Given the description of an element on the screen output the (x, y) to click on. 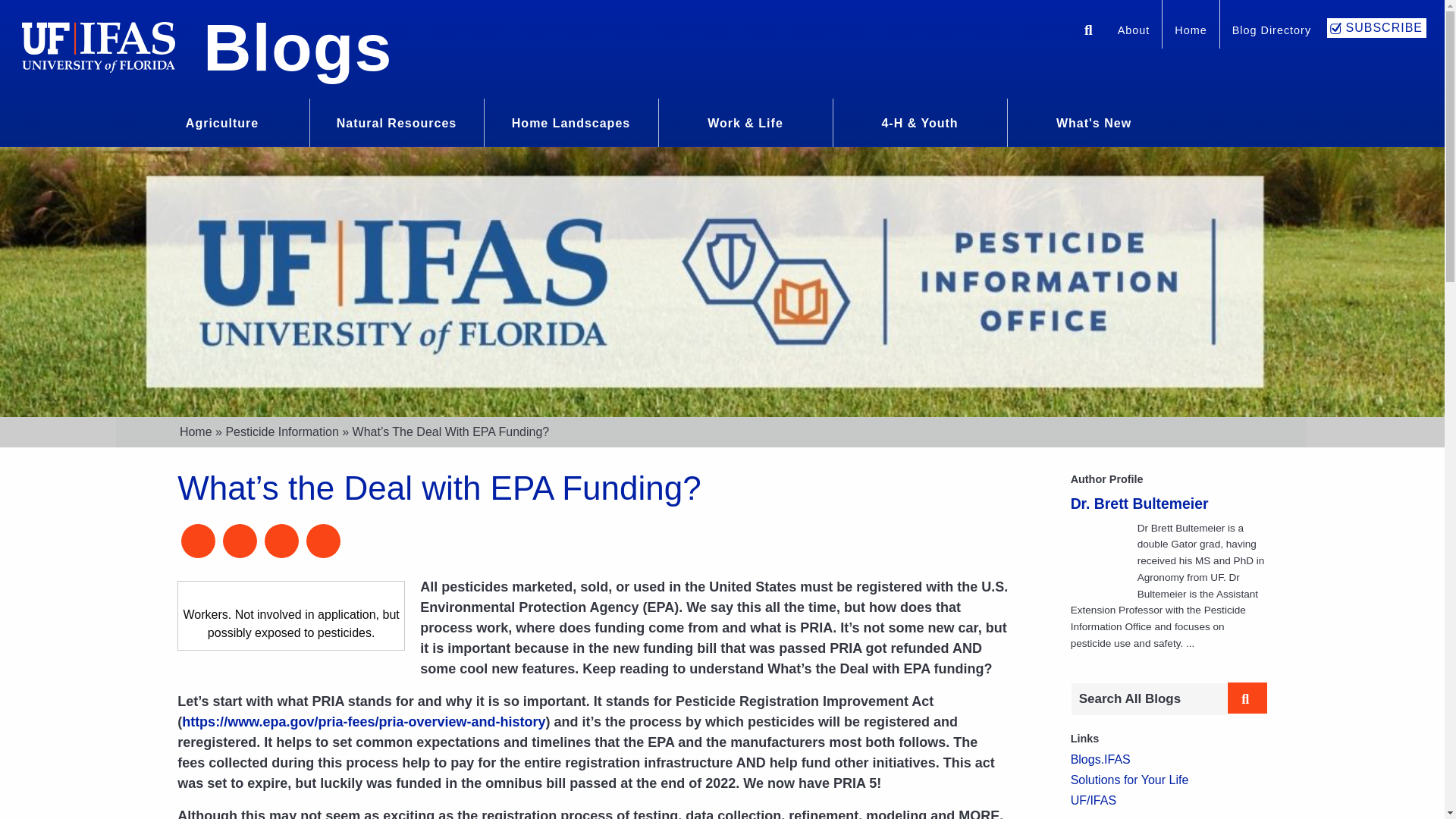
Home (1189, 32)
Search All Blogs (1148, 698)
Blog Directory (1271, 32)
SUBSCRIBE (1376, 27)
Agriculture (221, 121)
Home Landscapes (571, 121)
Natural Resources (396, 121)
About (1133, 32)
Blogs (297, 47)
